Given the description of an element on the screen output the (x, y) to click on. 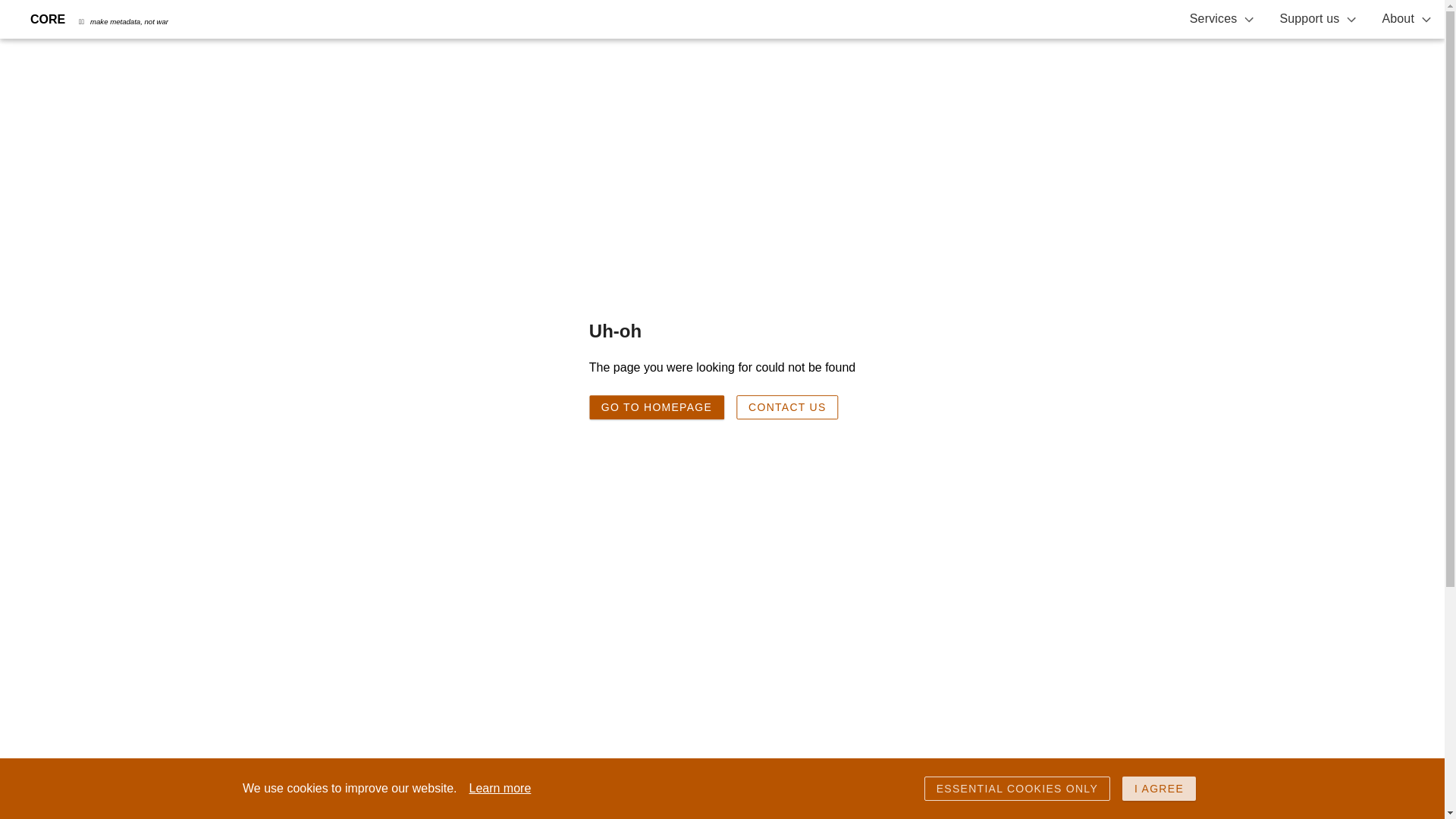
GO TO HOMEPAGE (656, 406)
Services (1222, 19)
CONTACT US (787, 406)
Support us (1318, 19)
